Given the description of an element on the screen output the (x, y) to click on. 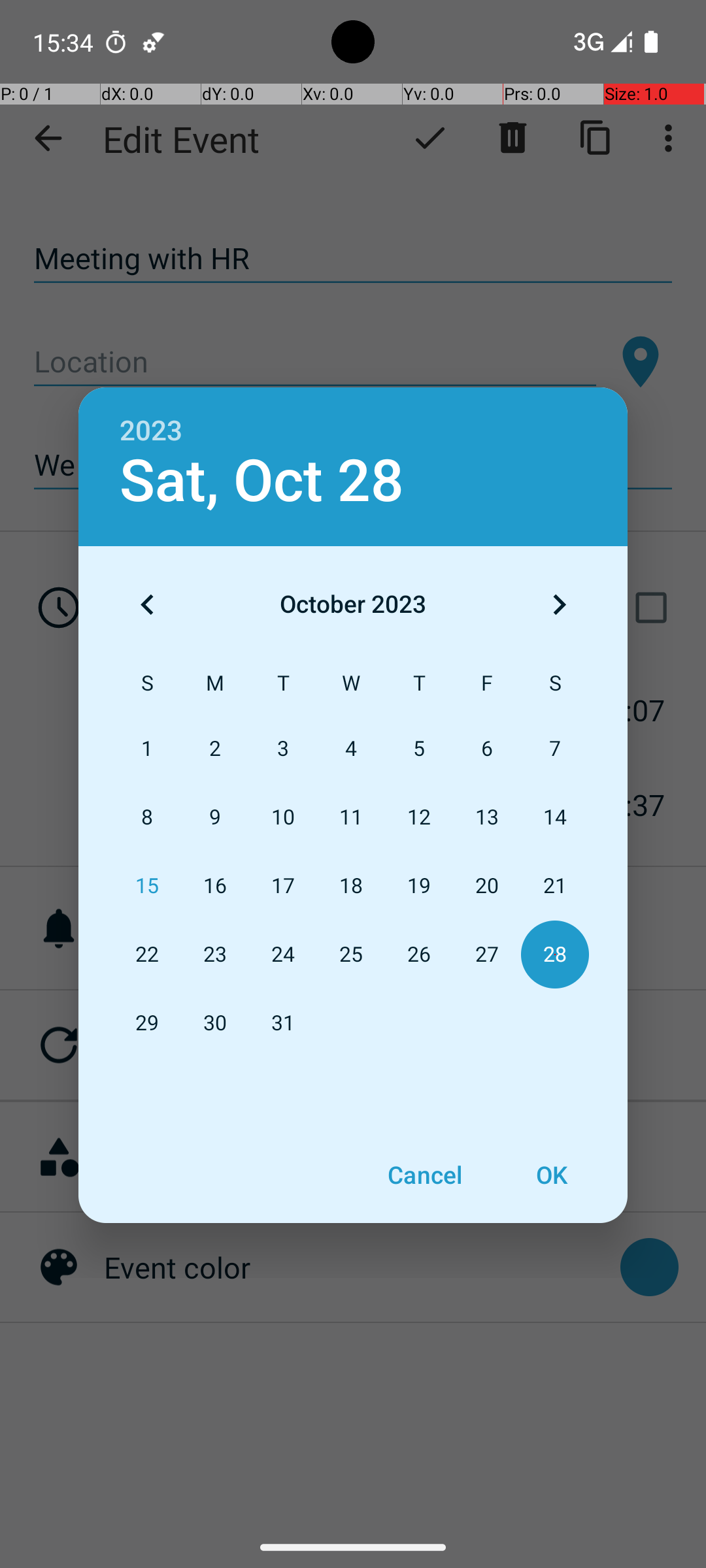
Sat, Oct 28 Element type: android.widget.TextView (261, 480)
